Given the description of an element on the screen output the (x, y) to click on. 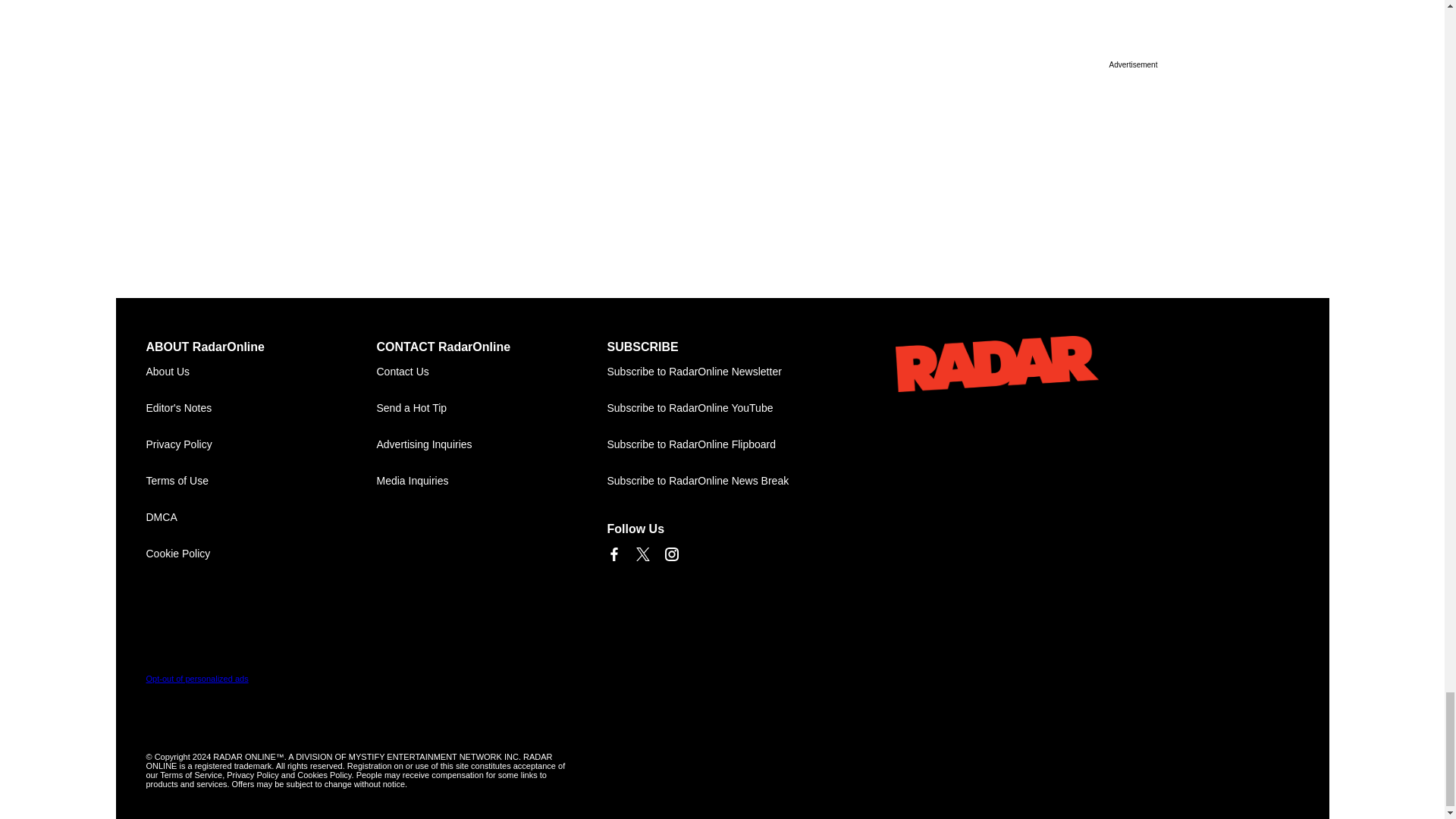
Subscribe to RadarOnline on YouTube (722, 408)
Link to Instagram (670, 554)
Editor's Notes (260, 408)
Terms of Use (260, 481)
Editor's Notes (260, 408)
Advertising Inquiries (491, 444)
DMCA (260, 517)
Privacy Policy (260, 444)
Privacy Policy (260, 444)
About Us (260, 371)
